Given the description of an element on the screen output the (x, y) to click on. 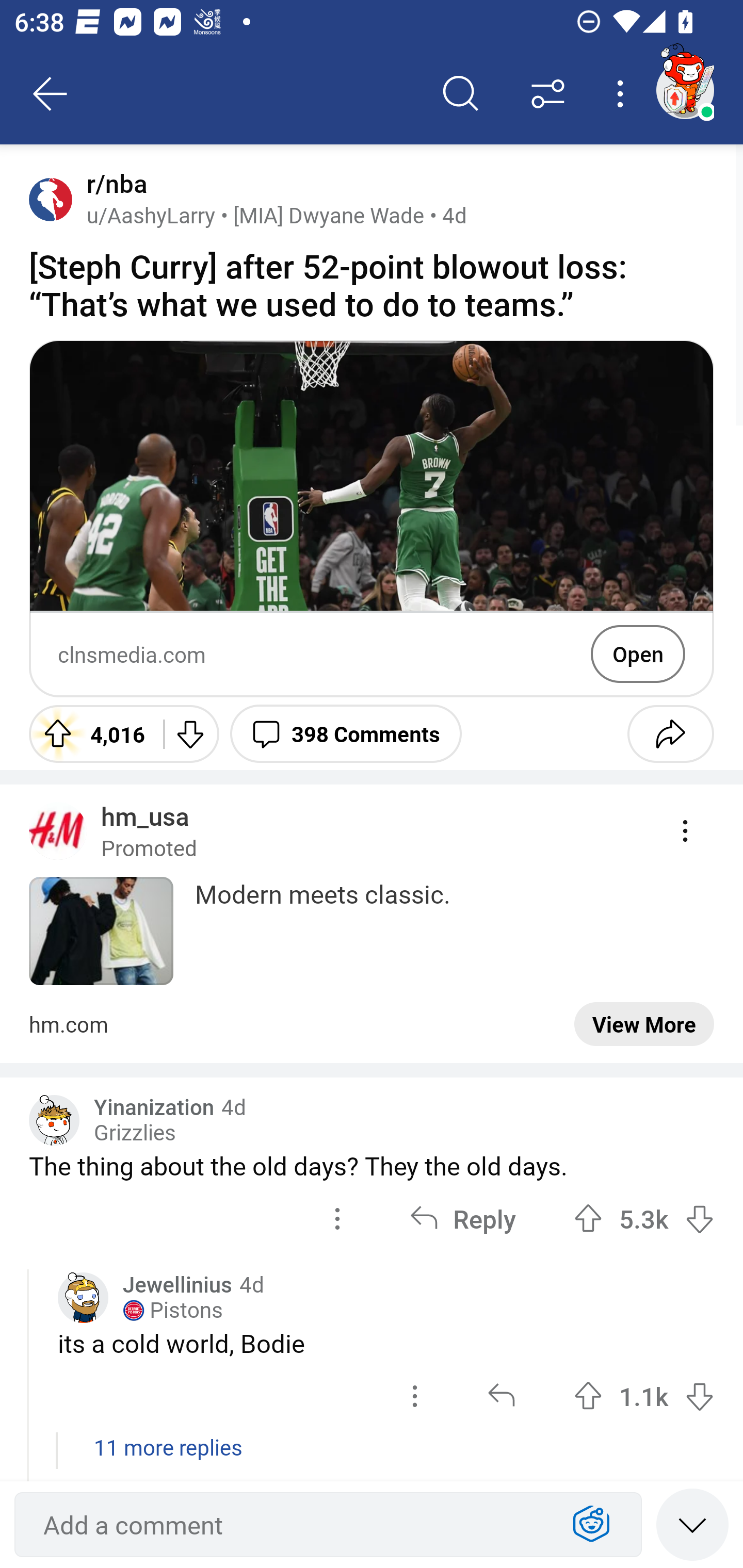
Back (50, 93)
TestAppium002 account (685, 90)
Search comments (460, 93)
Sort comments (547, 93)
More options (623, 93)
r/nba (113, 183)
Avatar (50, 199)
Preview Image clnsmedia.com Open (371, 518)
Open (637, 654)
Upvote 4,016 (88, 733)
Downvote (189, 733)
398 Comments (346, 733)
Share (670, 733)
Ad from hm_usa, Promoted, Modern meets classic. (371, 923)
Custom avatar (53, 1120)
Grizzlies (134, 1132)
The thing about the old days? They the old days. (371, 1165)
options (337, 1218)
Reply (462, 1218)
Upvote 5.3k 5280 votes Downvote (643, 1218)
Custom avatar (82, 1298)
￼ Pistons (172, 1310)
its a cold world, Bodie (385, 1342)
options (414, 1395)
Upvote 1.1k 1085 votes Downvote (643, 1395)
11 more replies (371, 1456)
Speed read (692, 1524)
Add a comment (291, 1524)
Show Expressions (590, 1524)
